Given the description of an element on the screen output the (x, y) to click on. 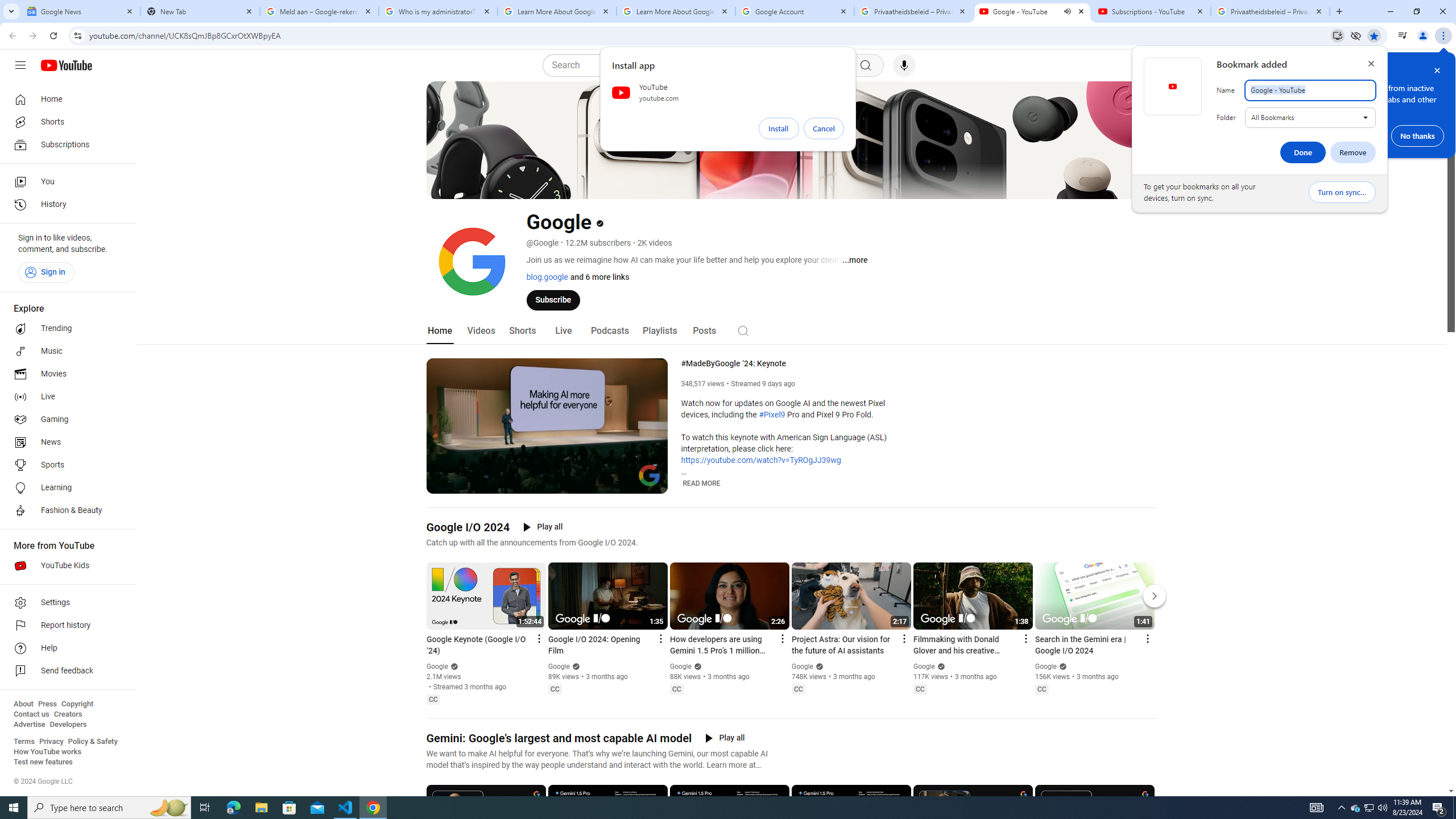
Fashion & Beauty (64, 510)
Running applications (717, 807)
YouTube Kids (64, 565)
Microsoft Edge (233, 807)
User Promoted Notification Area (1368, 807)
Show desktop (1454, 807)
YouTube Home (66, 65)
blog.google (546, 276)
